Given the description of an element on the screen output the (x, y) to click on. 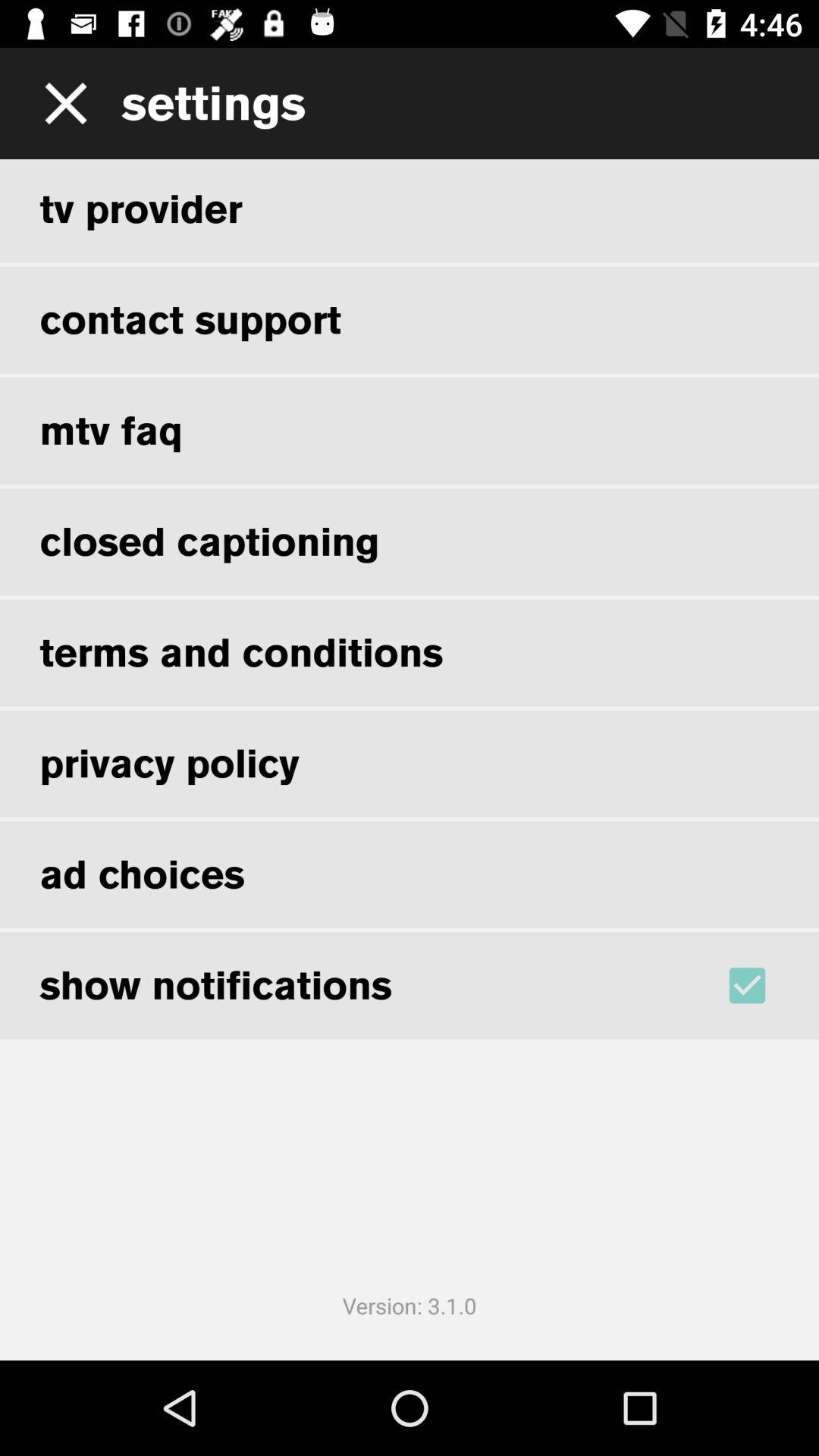
show notifications checkbox (767, 985)
